Given the description of an element on the screen output the (x, y) to click on. 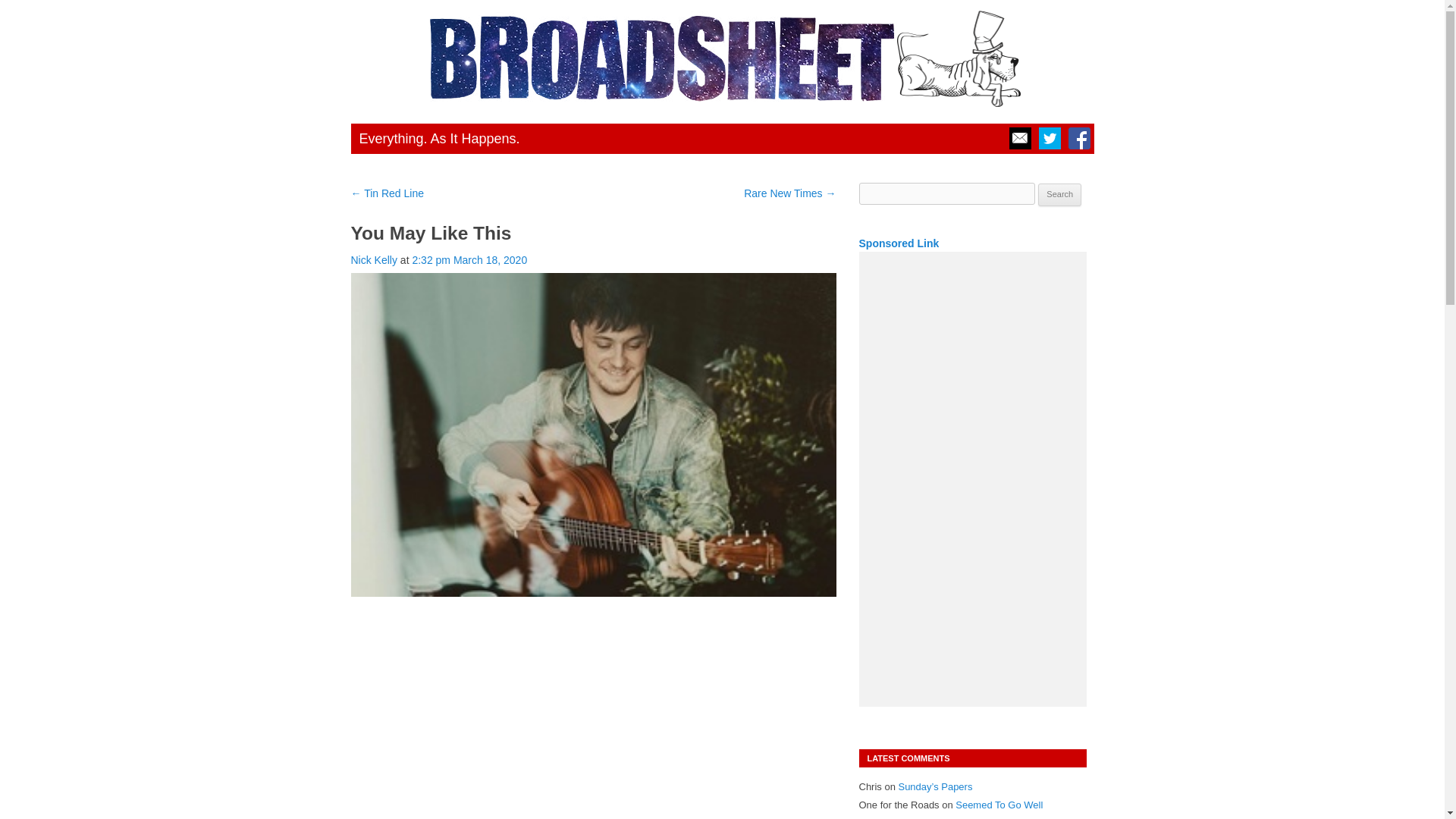
2:32 pm (469, 259)
Nick Kelly (373, 259)
View all posts by Nick Kelly (373, 259)
2:32 pm March 18, 2020 (469, 259)
